Given the description of an element on the screen output the (x, y) to click on. 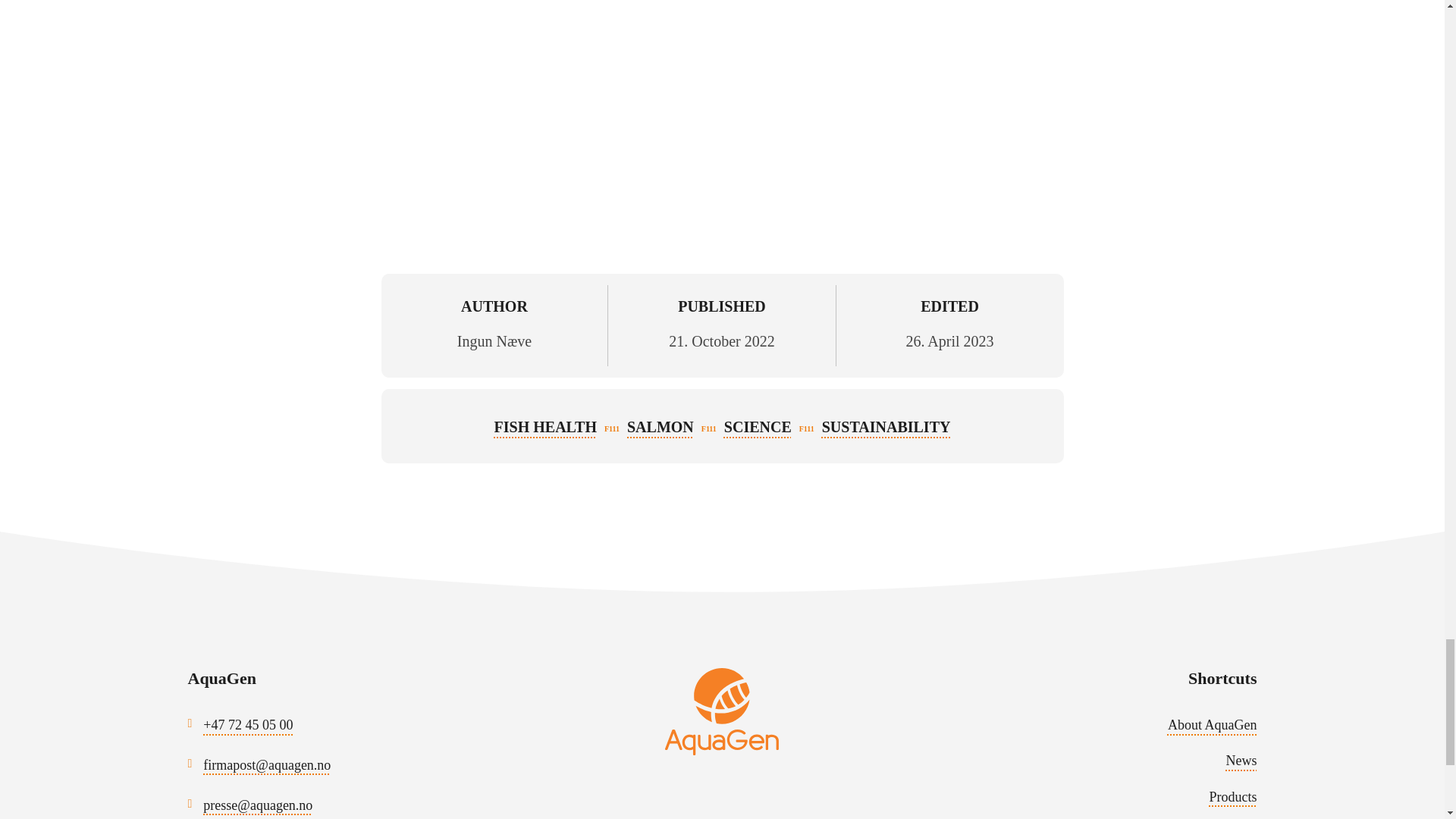
FISH HEALTH (545, 426)
SCIENCE (757, 426)
News (1240, 760)
About AquaGen (1211, 724)
SUSTAINABILITY (886, 426)
Products (1232, 796)
SALMON (660, 426)
